Given the description of an element on the screen output the (x, y) to click on. 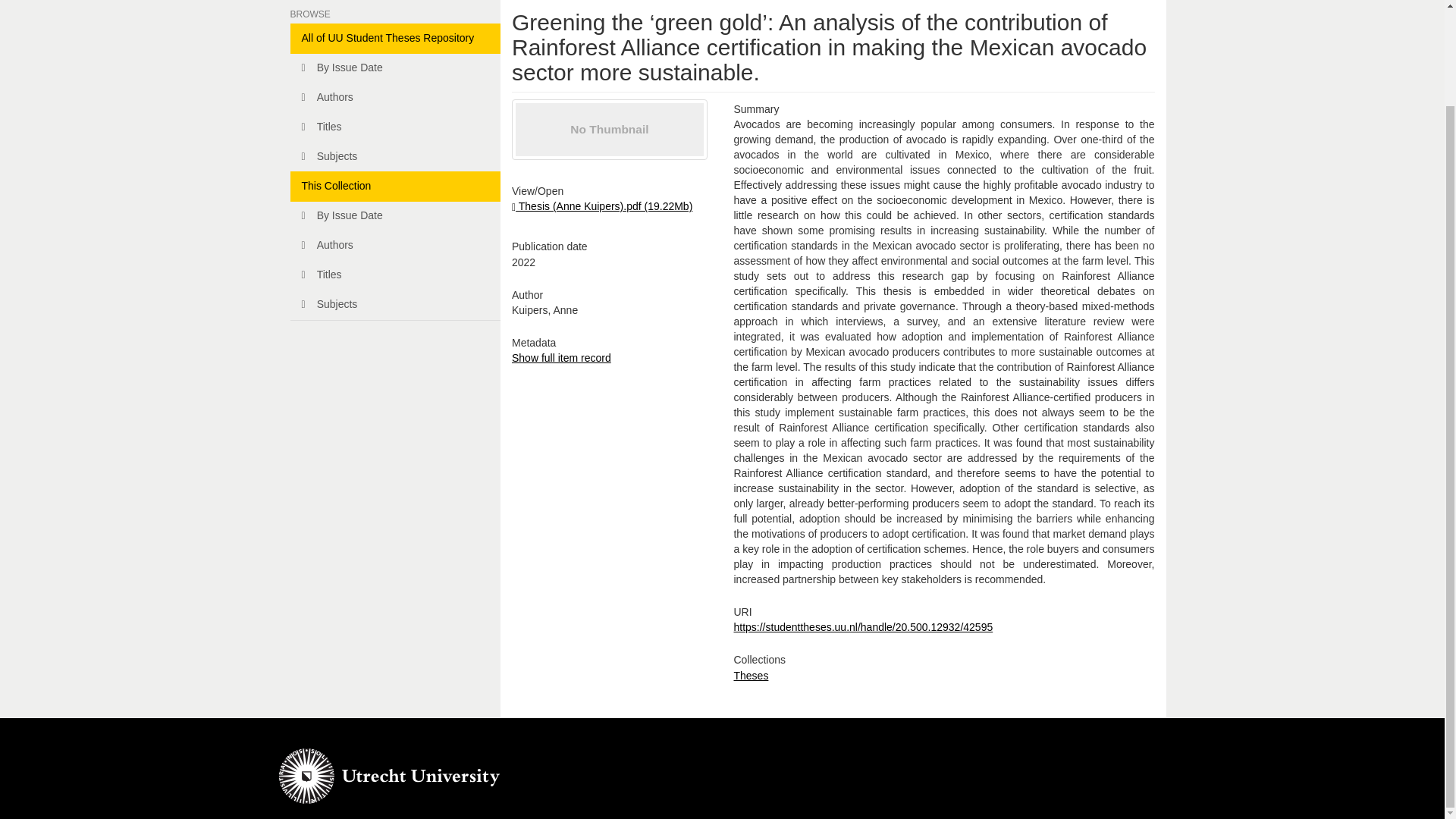
By Issue Date (394, 215)
Titles (394, 275)
All of UU Student Theses Repository (394, 38)
Subjects (394, 156)
Show full item record (561, 357)
Titles (394, 127)
By Issue Date (394, 68)
Theses (750, 675)
Authors (394, 245)
Authors (394, 97)
